Given the description of an element on the screen output the (x, y) to click on. 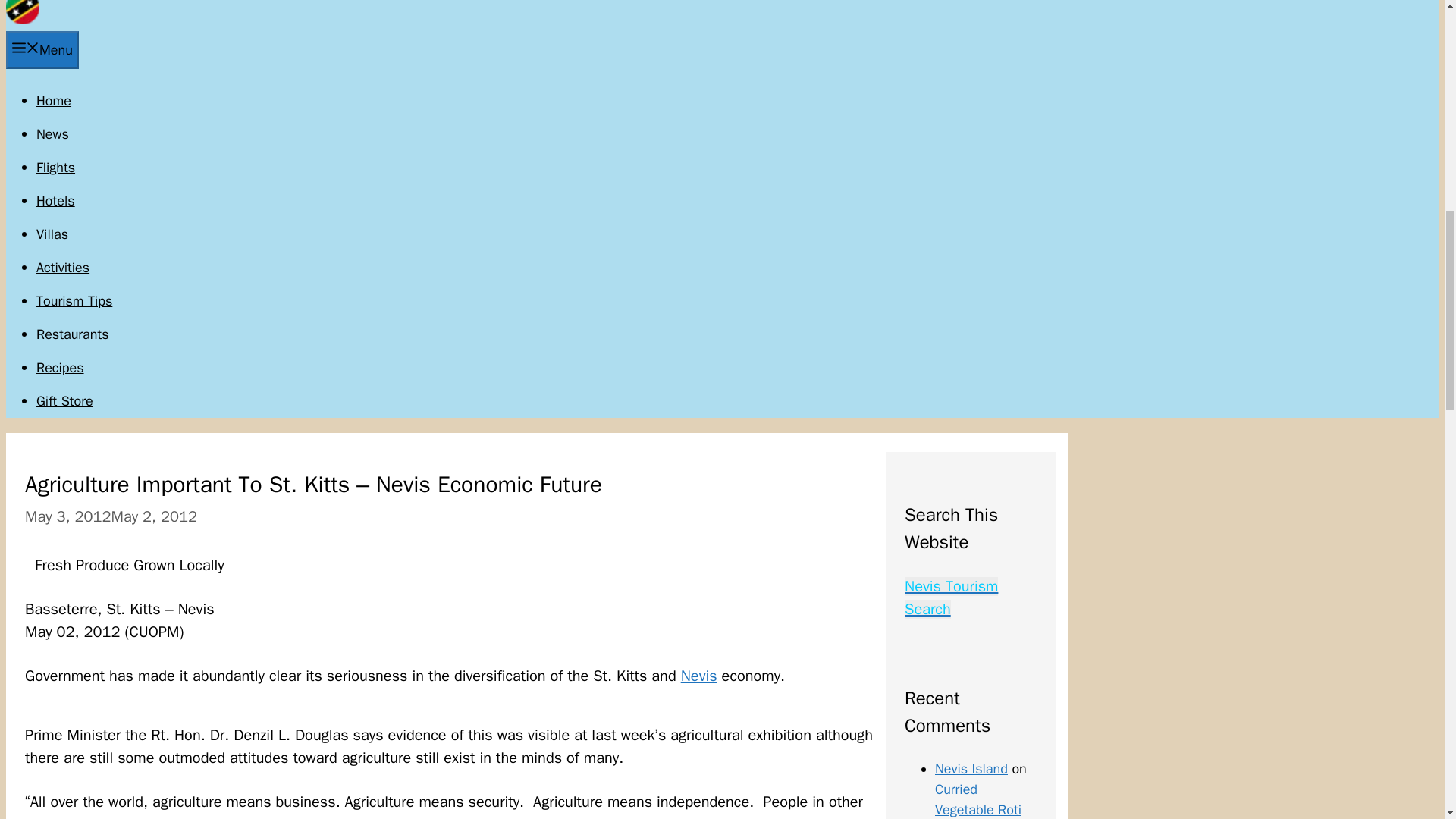
Nevis Island (970, 768)
Home (53, 100)
Activities (62, 267)
Luxury Nevis Hotels (55, 200)
Recipes (60, 367)
Nevis Villa Rentals (52, 234)
Restaurants (72, 334)
Nevis Flight Information (55, 167)
Nevis Tourism Search (950, 598)
Nevis Island News and Notes (22, 19)
Flights (55, 167)
Villas (52, 234)
Menu (41, 49)
Gift Store (64, 401)
Hotels (55, 200)
